Given the description of an element on the screen output the (x, y) to click on. 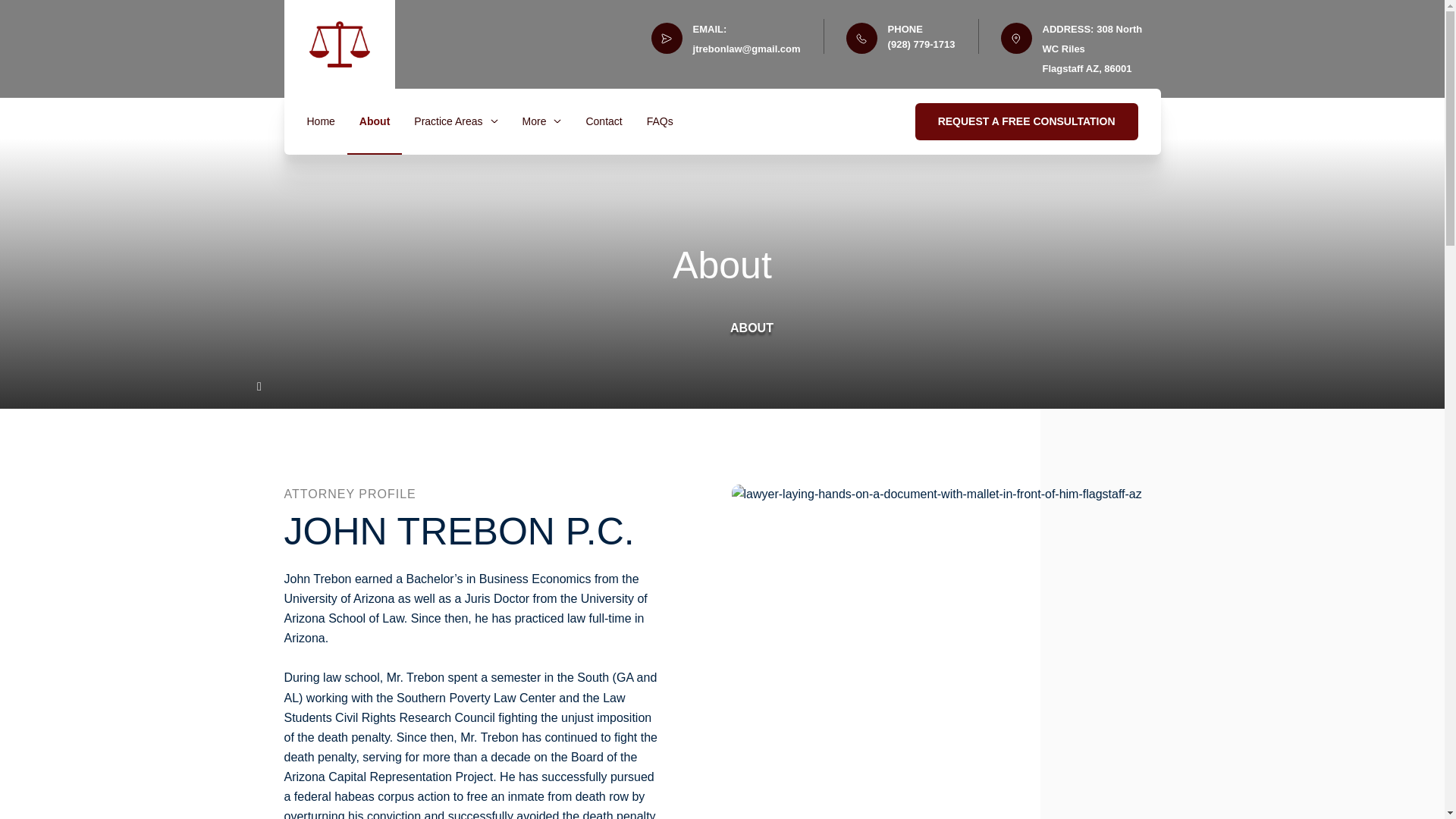
FAQs (659, 121)
About (374, 121)
HOME (677, 328)
More (542, 121)
REQUEST A FREE CONSULTATION (1026, 121)
Contact (603, 121)
Home (319, 121)
Practice Areas (455, 121)
